Given the description of an element on the screen output the (x, y) to click on. 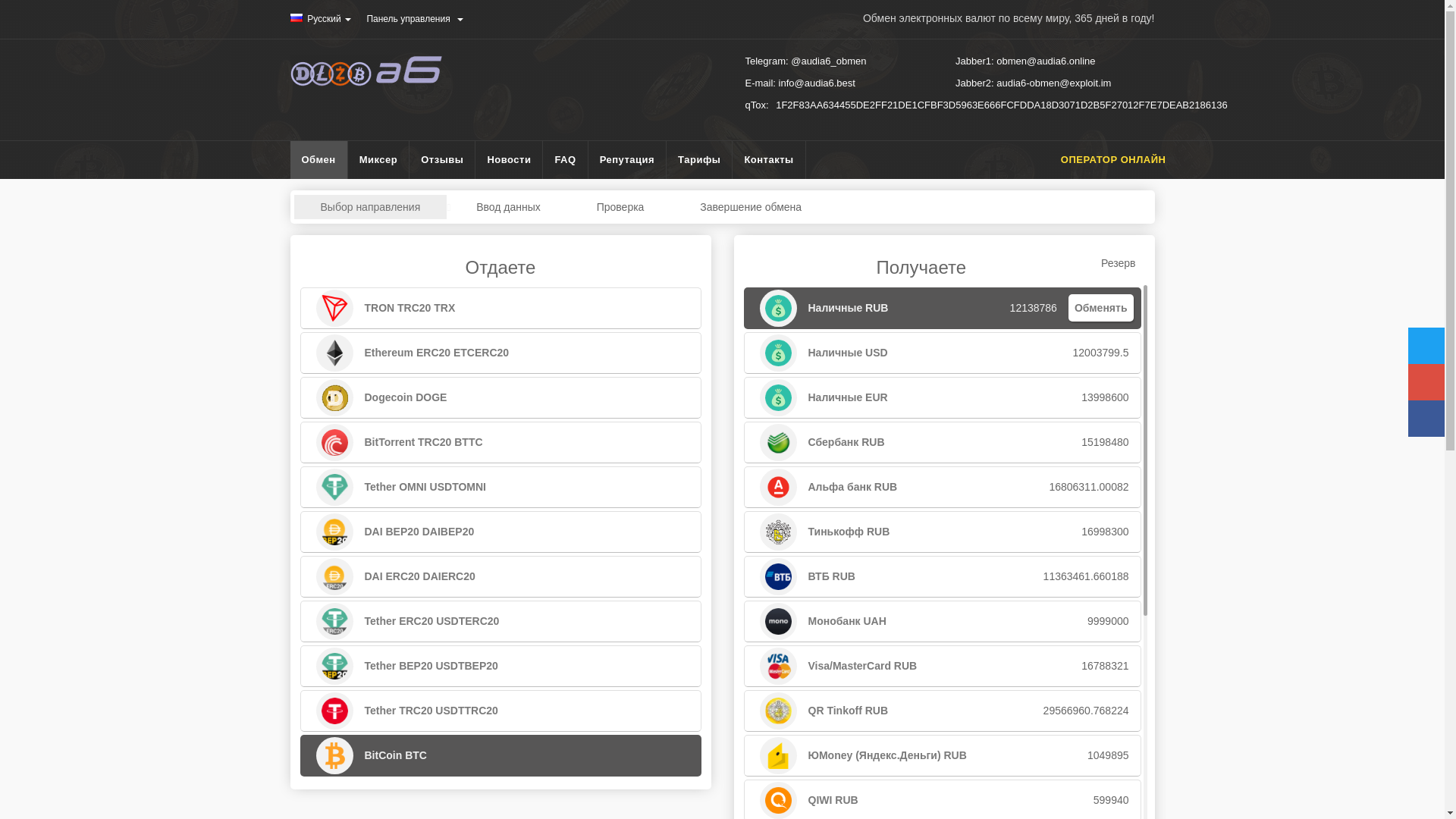
FAQ Element type: text (564, 159)
@audia6_obmen Element type: text (828, 60)
